Given the description of an element on the screen output the (x, y) to click on. 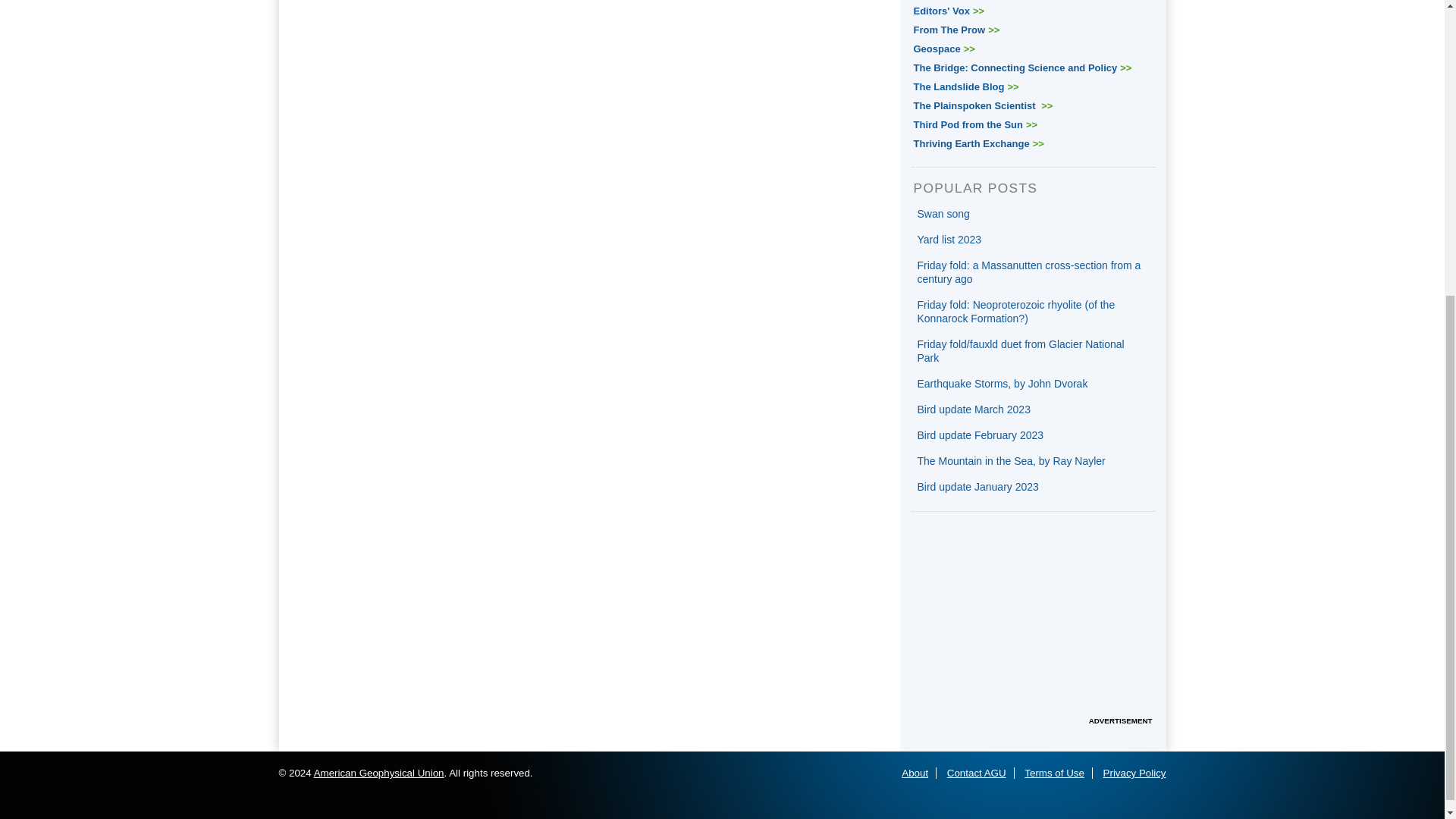
Bird update January 2023 (978, 486)
Yard list 2023 (949, 239)
Bird update March 2023 (973, 409)
Terms of Use (1054, 772)
American Geophysical Union (379, 772)
Yard list 2023 (949, 239)
Bird update January 2023 (978, 486)
Swan song (943, 214)
Friday fold: a Massanutten cross-section from a century ago (1029, 272)
Bird update March 2023 (973, 409)
